Given the description of an element on the screen output the (x, y) to click on. 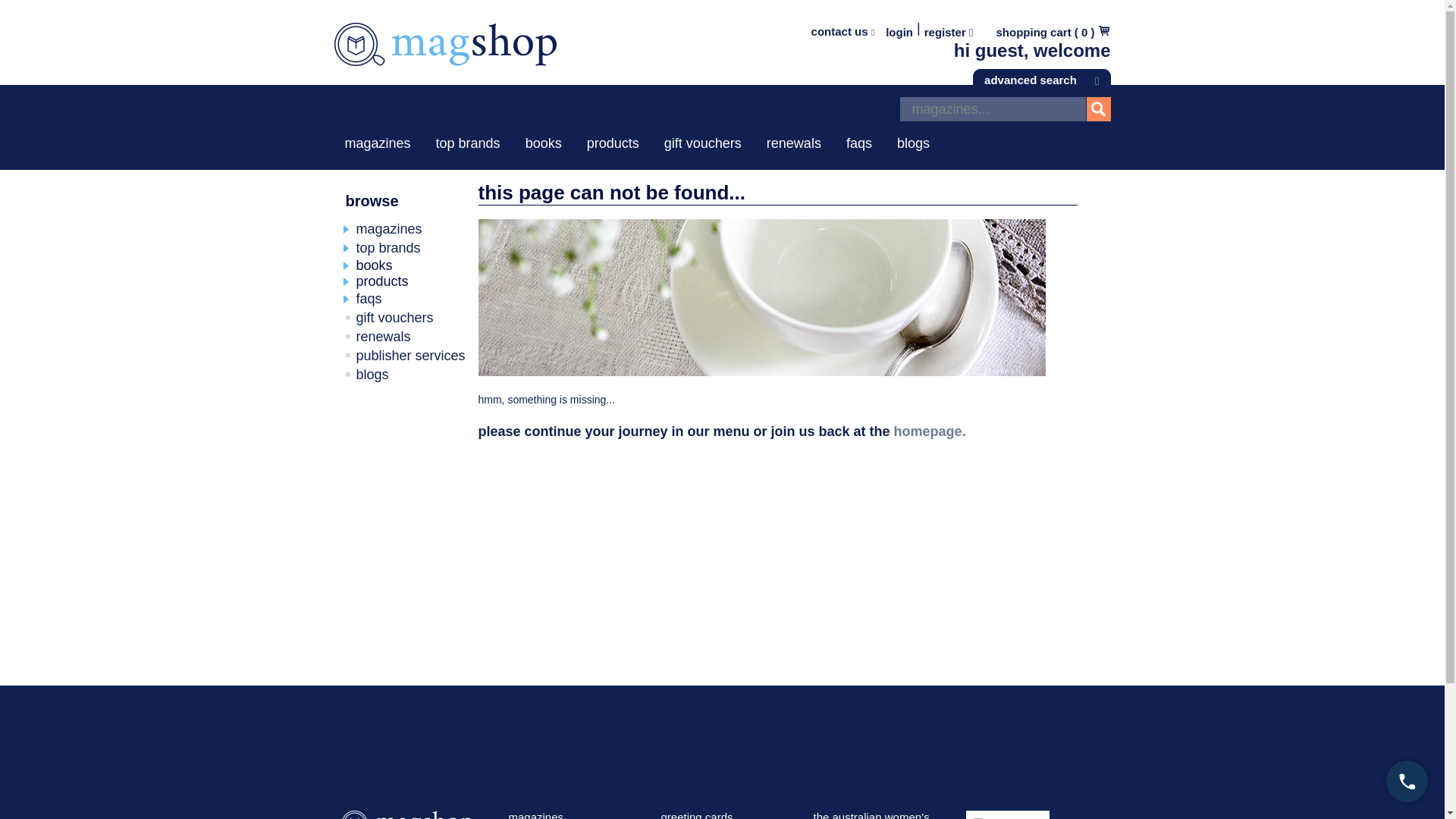
Home (444, 53)
contact us (842, 31)
login (898, 31)
register  (949, 31)
advanced search (1040, 77)
